Given the description of an element on the screen output the (x, y) to click on. 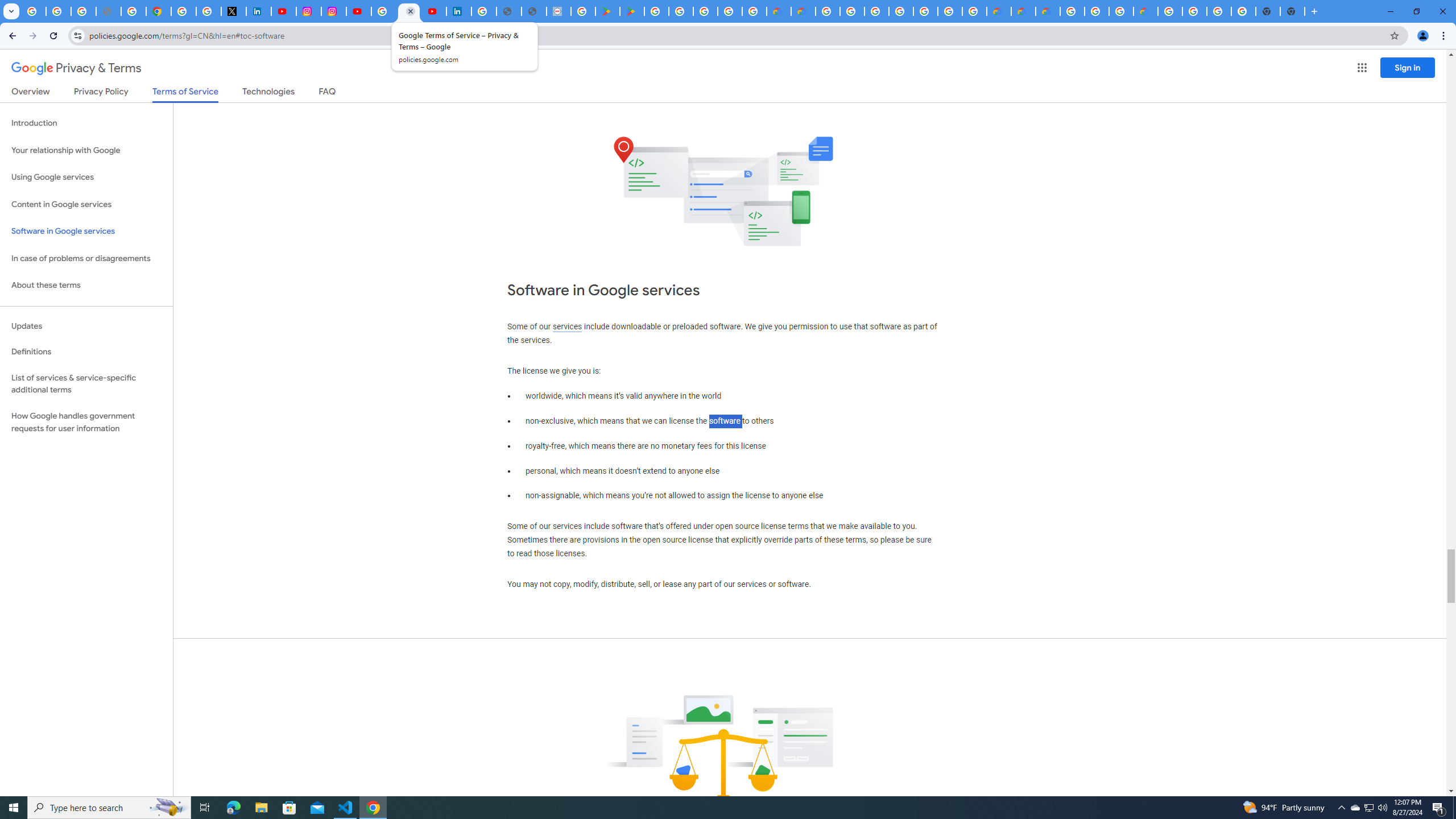
In case of problems or disagreements (86, 258)
How Google handles government requests for user information (86, 422)
Customer Care | Google Cloud (778, 11)
PAW Patrol Rescue World - Apps on Google Play (631, 11)
Software in Google services (86, 230)
Android Apps on Google Play (606, 11)
